Given the description of an element on the screen output the (x, y) to click on. 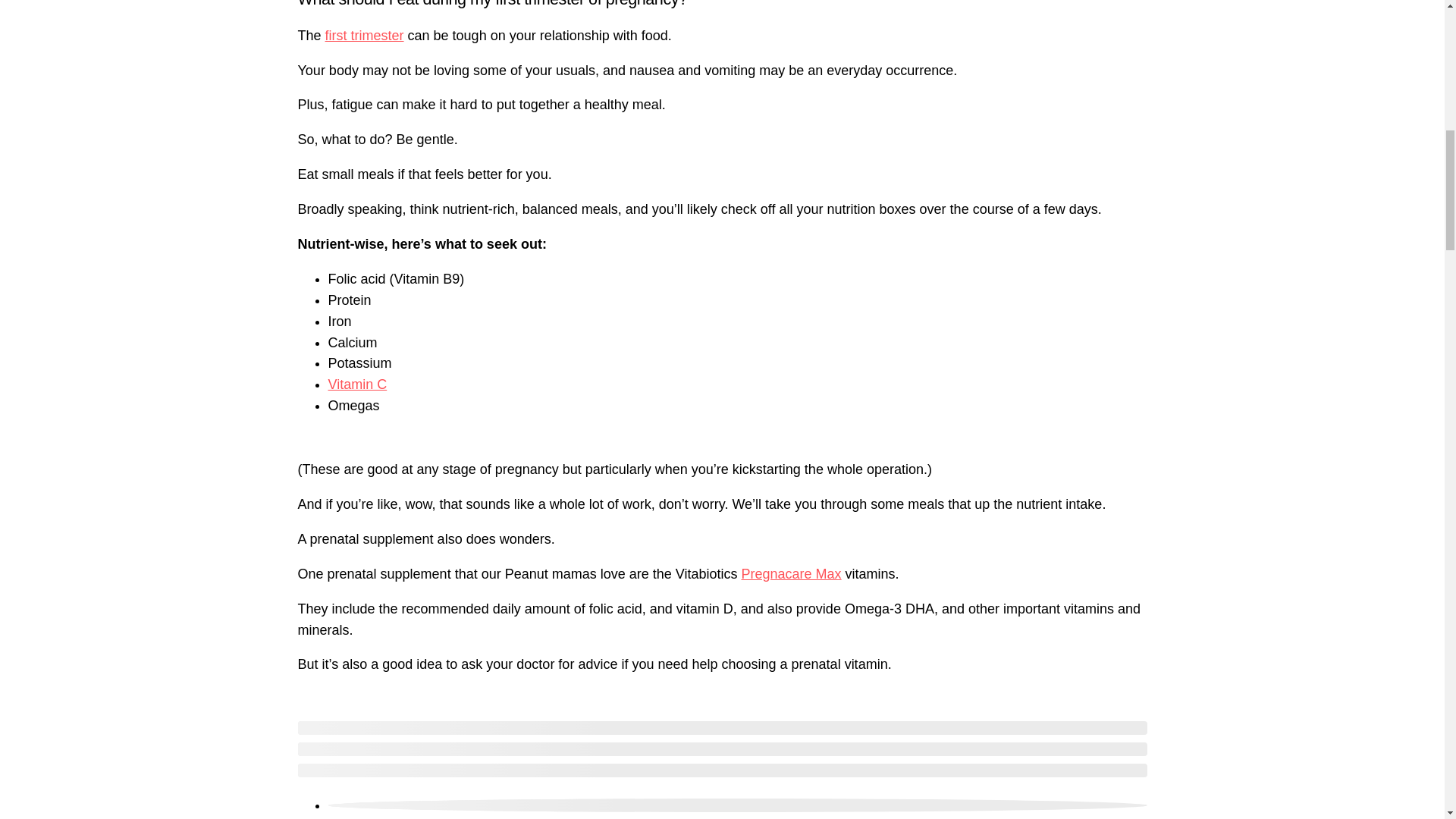
Pregnacare Max (791, 573)
Vitamin C (357, 384)
first trimester (364, 35)
